Given the description of an element on the screen output the (x, y) to click on. 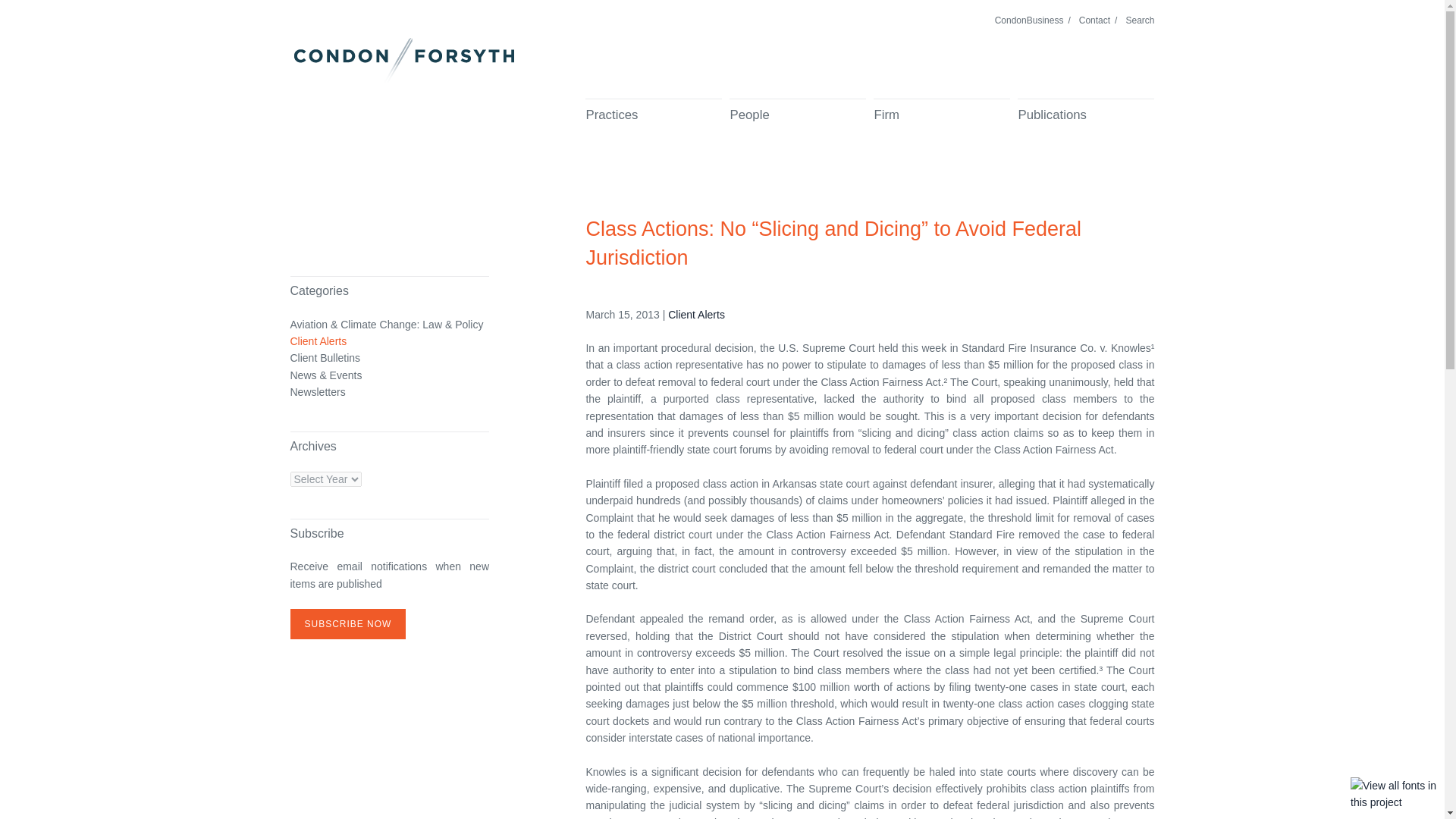
Client Alerts (696, 314)
CondonBusiness (1029, 20)
Practices (653, 125)
Newsletters (317, 392)
People (797, 125)
Search (1139, 20)
Search (1139, 20)
Contact (1093, 20)
SUBSCRIBE NOW (347, 624)
Client Alerts (317, 340)
Firm (941, 125)
Client Bulletins (324, 357)
Publications (1085, 125)
